Given the description of an element on the screen output the (x, y) to click on. 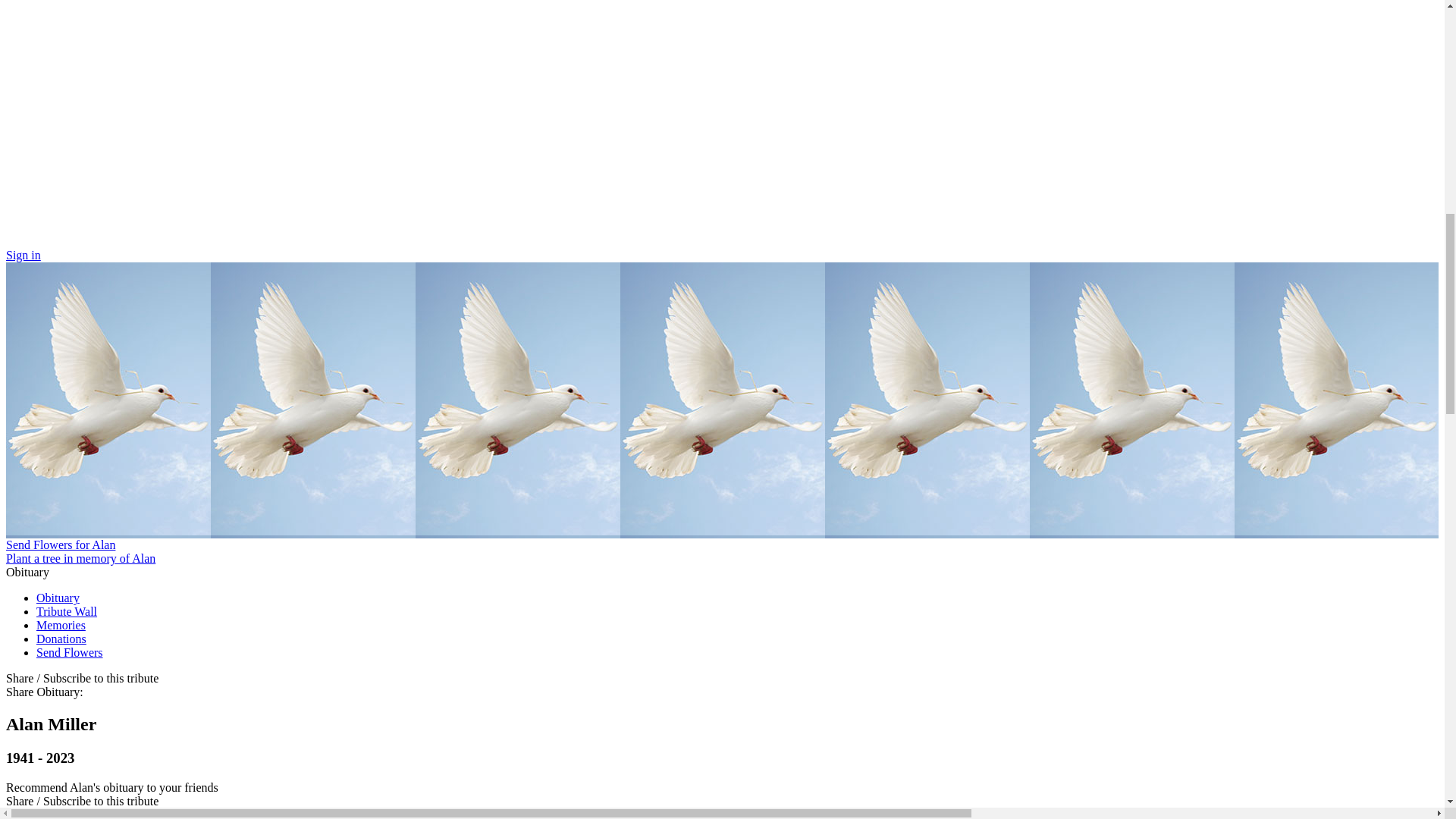
Plant A Tree (80, 558)
Donations (60, 638)
Memories (60, 625)
Tribute Wall (66, 611)
Sign in (22, 254)
Plant a tree in memory of Alan (80, 558)
Send Flowers for Alan (60, 544)
Obituary (58, 597)
Send Flowers (69, 652)
